Given the description of an element on the screen output the (x, y) to click on. 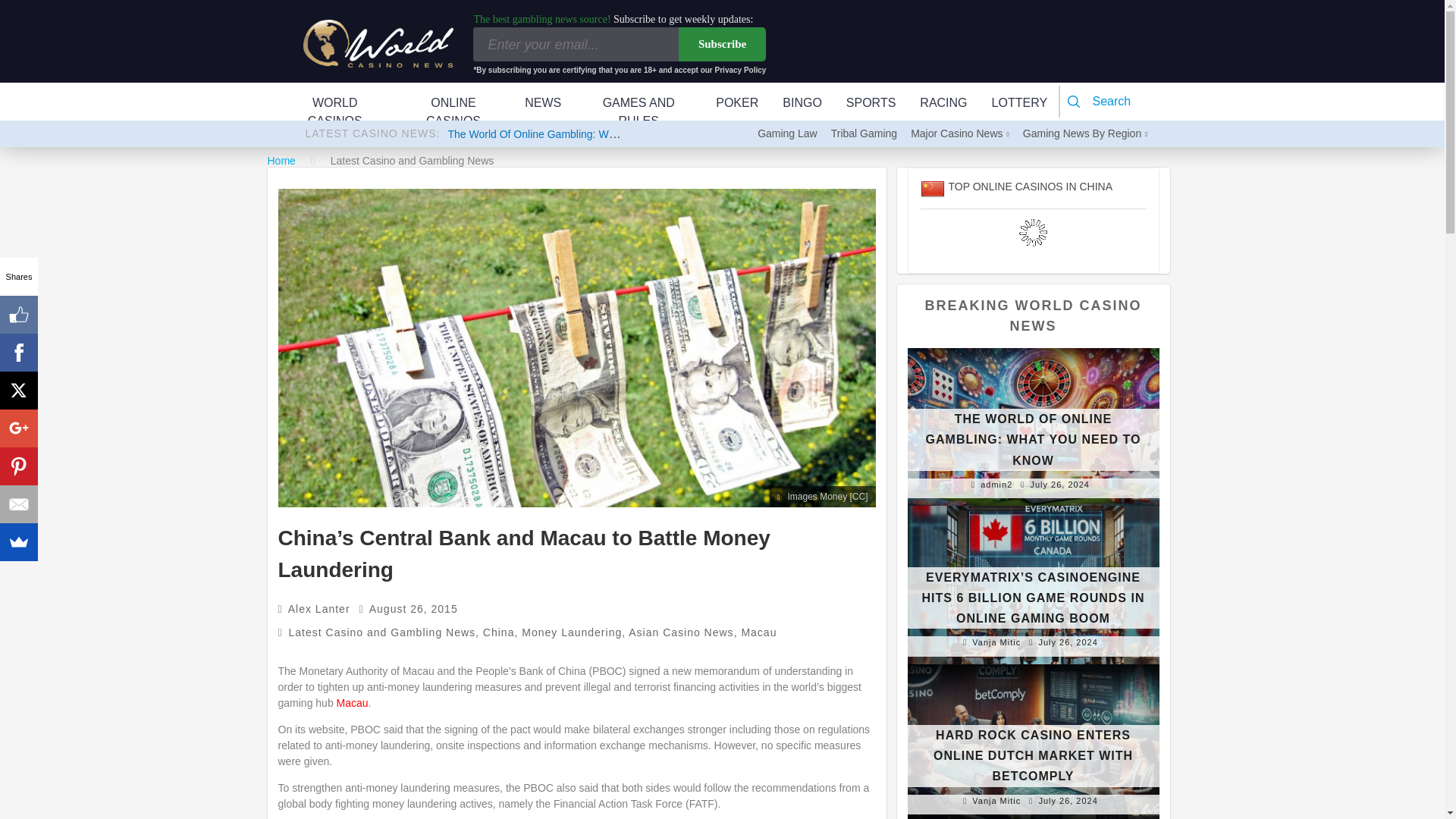
View all posts in Money Laundering (571, 632)
View all posts in China (499, 632)
The World of Online Gambling: What You Need to Know (581, 133)
View all posts in Latest Casino and Gambling News (412, 160)
Subscribe (722, 44)
View all posts in Asian Casino News (680, 632)
View all posts in Latest Casino and Gambling News (382, 632)
